Given the description of an element on the screen output the (x, y) to click on. 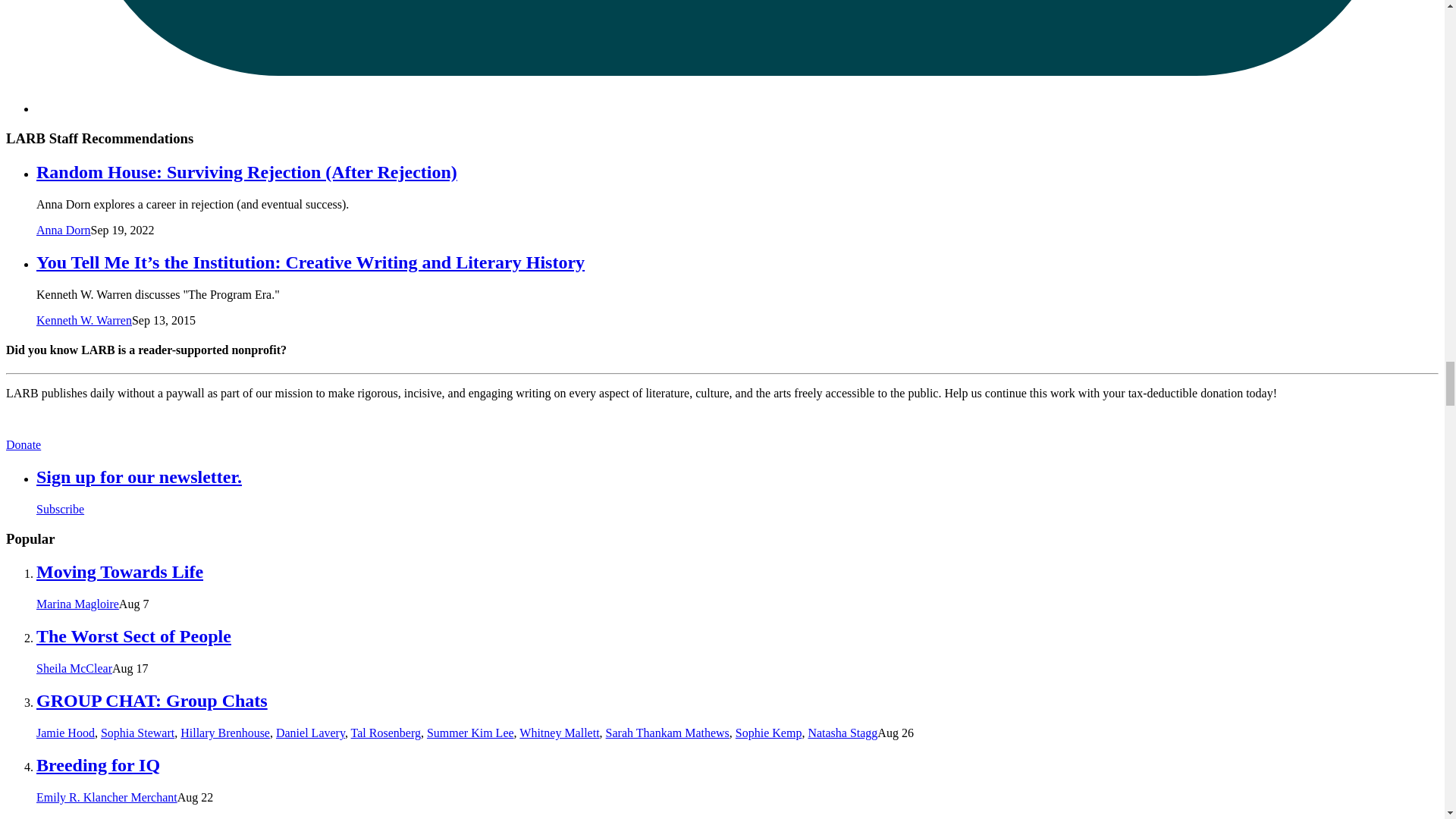
Sign up for our newsletter. (138, 476)
Anna Dorn (63, 229)
Kenneth W. Warren (84, 319)
